Given the description of an element on the screen output the (x, y) to click on. 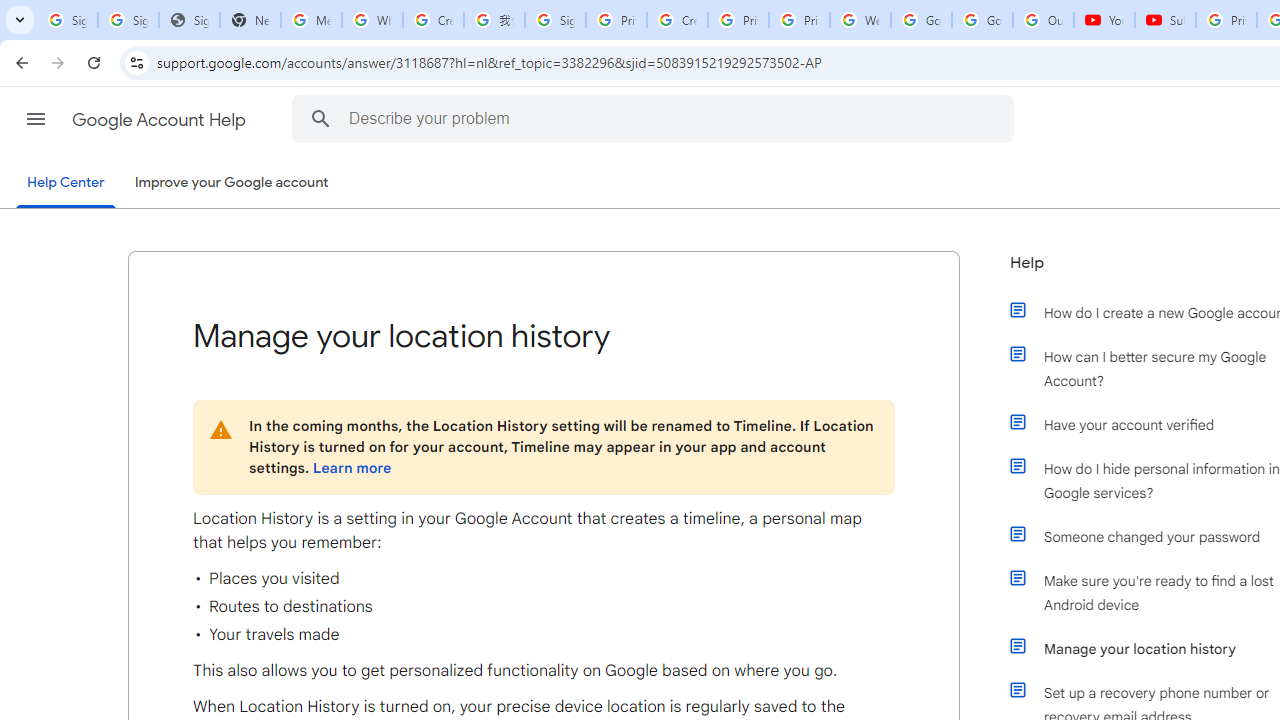
Improve your Google account (231, 183)
Create your Google Account (433, 20)
Subscriptions - YouTube (1165, 20)
Search the Help Center (320, 118)
Google Account Help (160, 119)
Learn more (351, 467)
Describe your problem (655, 118)
